Given the description of an element on the screen output the (x, y) to click on. 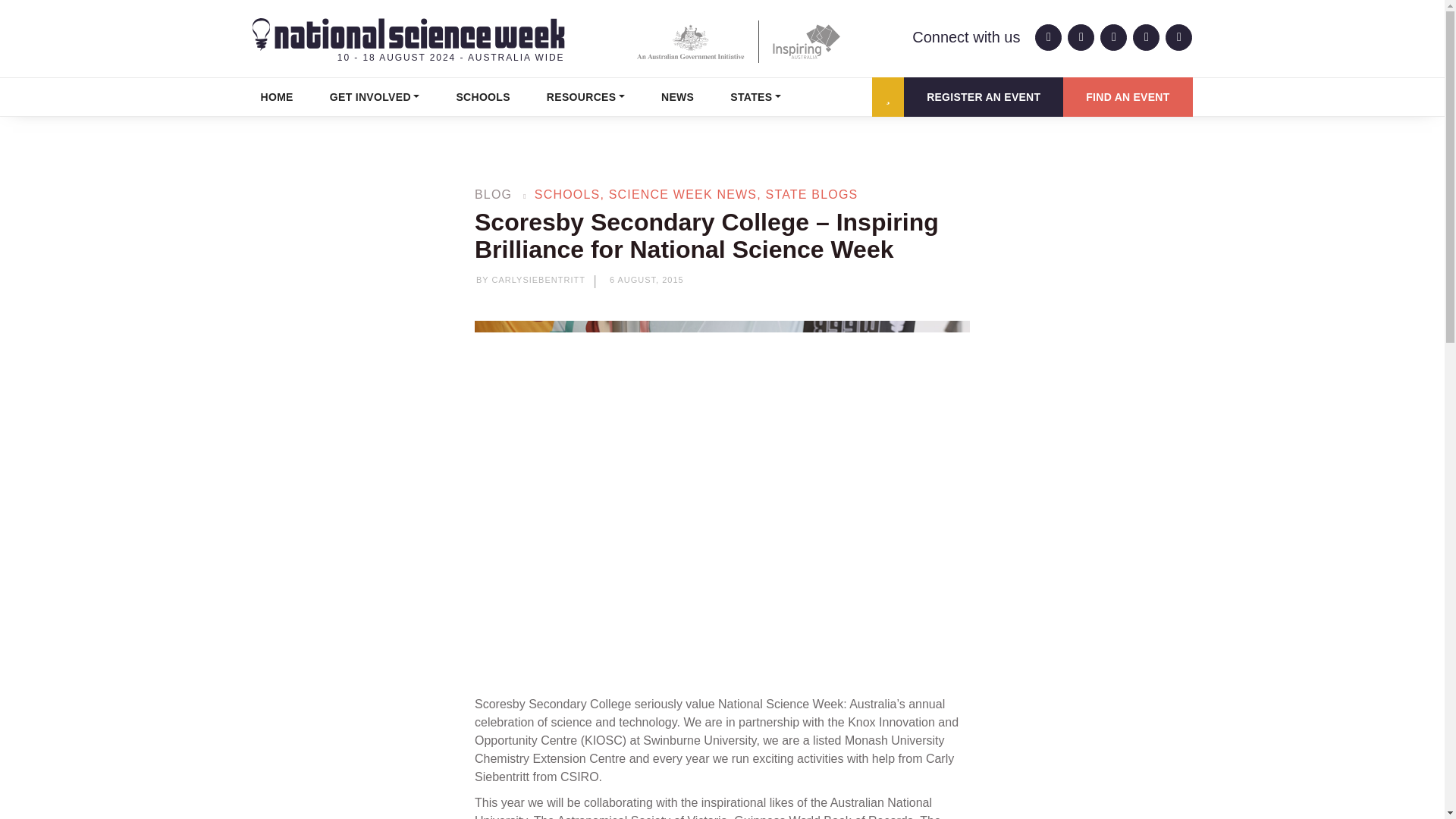
Schools (482, 96)
SCHOOLS (482, 96)
HOME (276, 96)
BLOG (493, 194)
FIND AN EVENT (1127, 96)
RESOURCES (585, 96)
Resources (585, 96)
STATES (755, 96)
REGISTER AN EVENT (983, 96)
10 - 18 AUGUST 2024 - AUSTRALIA WIDE (407, 41)
